Given the description of an element on the screen output the (x, y) to click on. 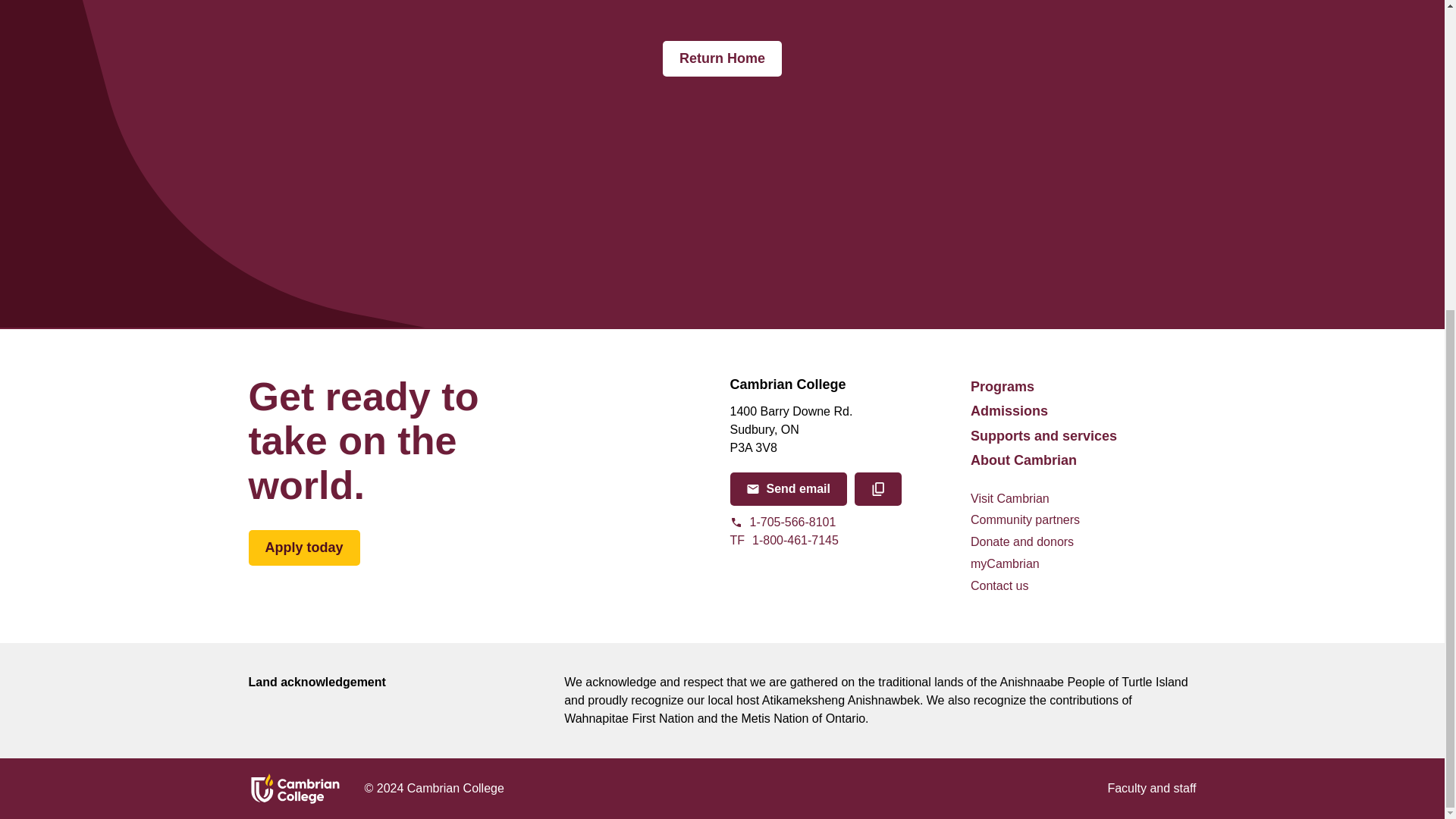
Apply today (303, 547)
Return Home (721, 58)
Community partners (1025, 520)
Supports and services (1043, 435)
Copy email (877, 489)
About Cambrian (1024, 459)
1-705-566-8101 (842, 540)
myCambrian (842, 522)
Donate and donors (1005, 564)
